Given the description of an element on the screen output the (x, y) to click on. 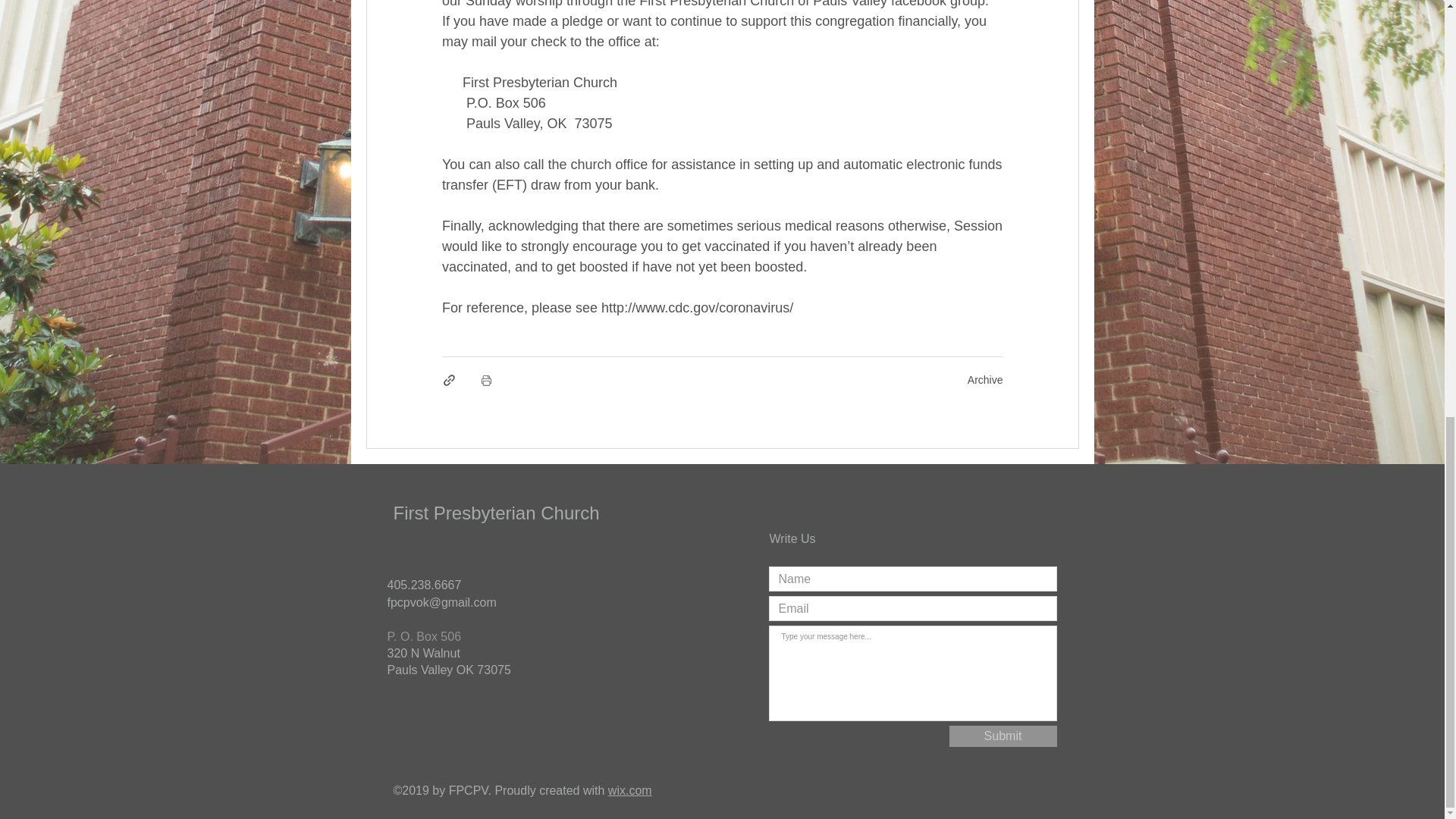
Archive (985, 378)
wix.com (630, 789)
Submit (1003, 735)
